Given the description of an element on the screen output the (x, y) to click on. 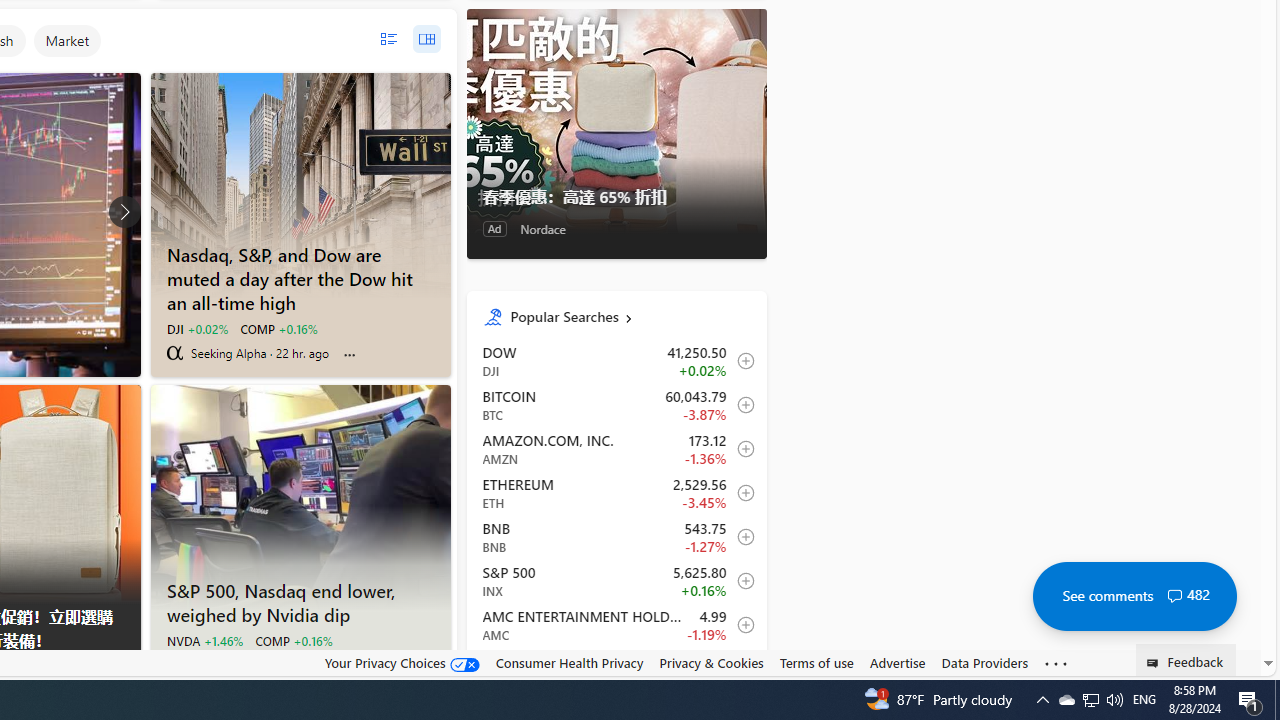
BNB BNB decrease 543.75 -6.88 -1.27% itemundefined (615, 536)
